Given the description of an element on the screen output the (x, y) to click on. 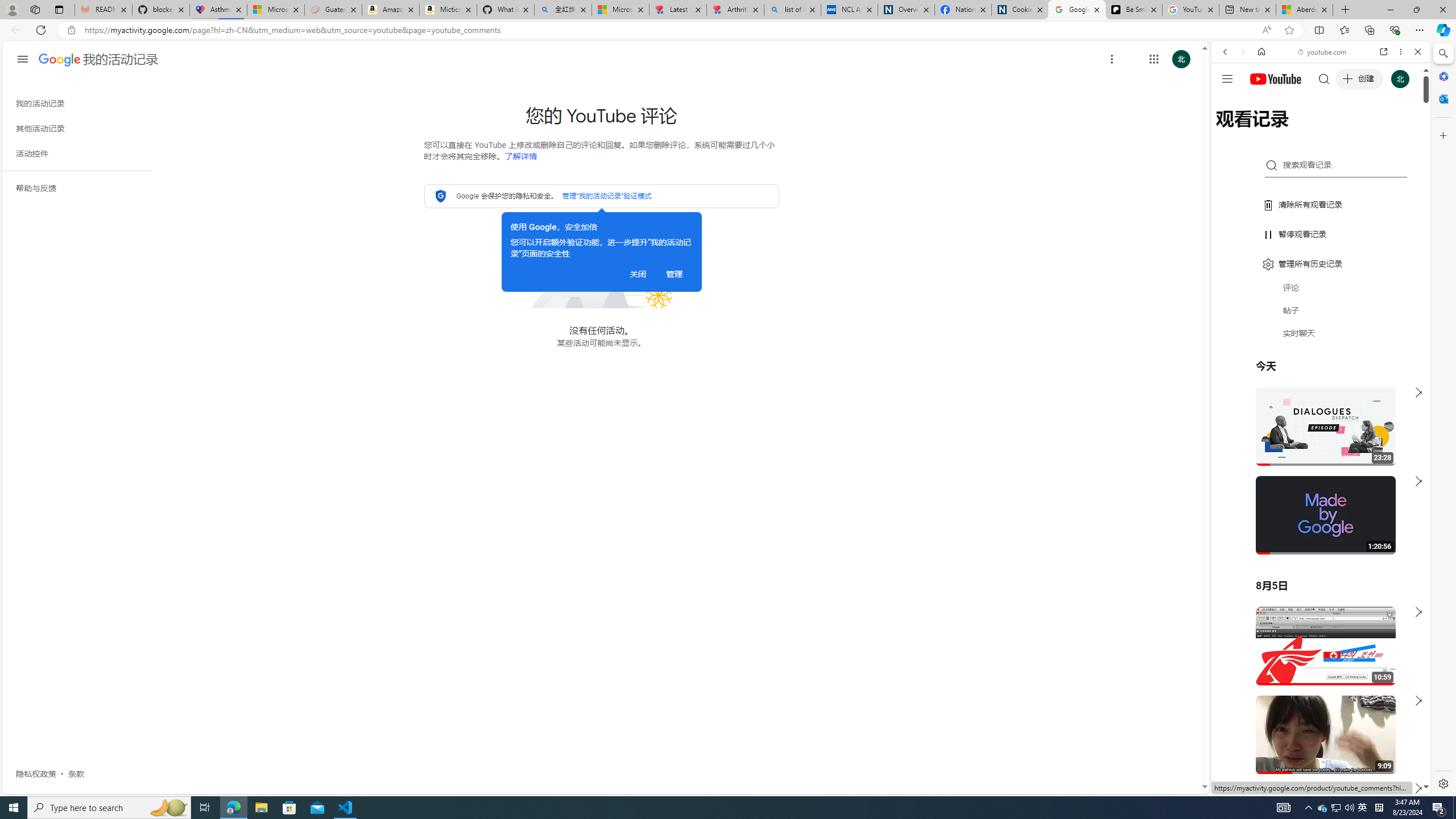
WEB   (1230, 130)
Asthma Inhalers: Names and Types (217, 9)
Show More Music (1390, 310)
Class: dict_pnIcon rms_img (1312, 784)
